Given the description of an element on the screen output the (x, y) to click on. 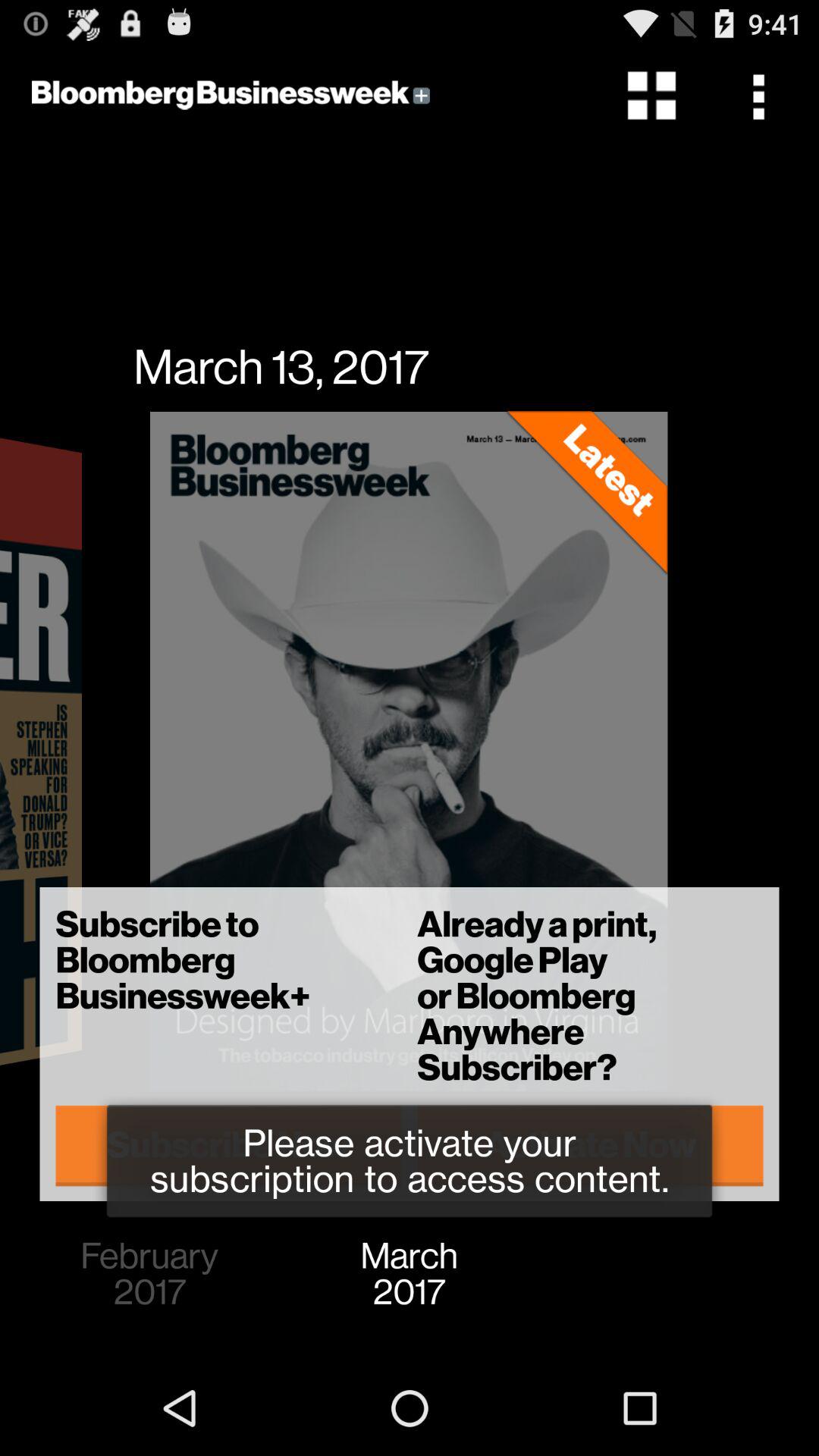
turn off the item to the left of march
2017 icon (149, 1273)
